Given the description of an element on the screen output the (x, y) to click on. 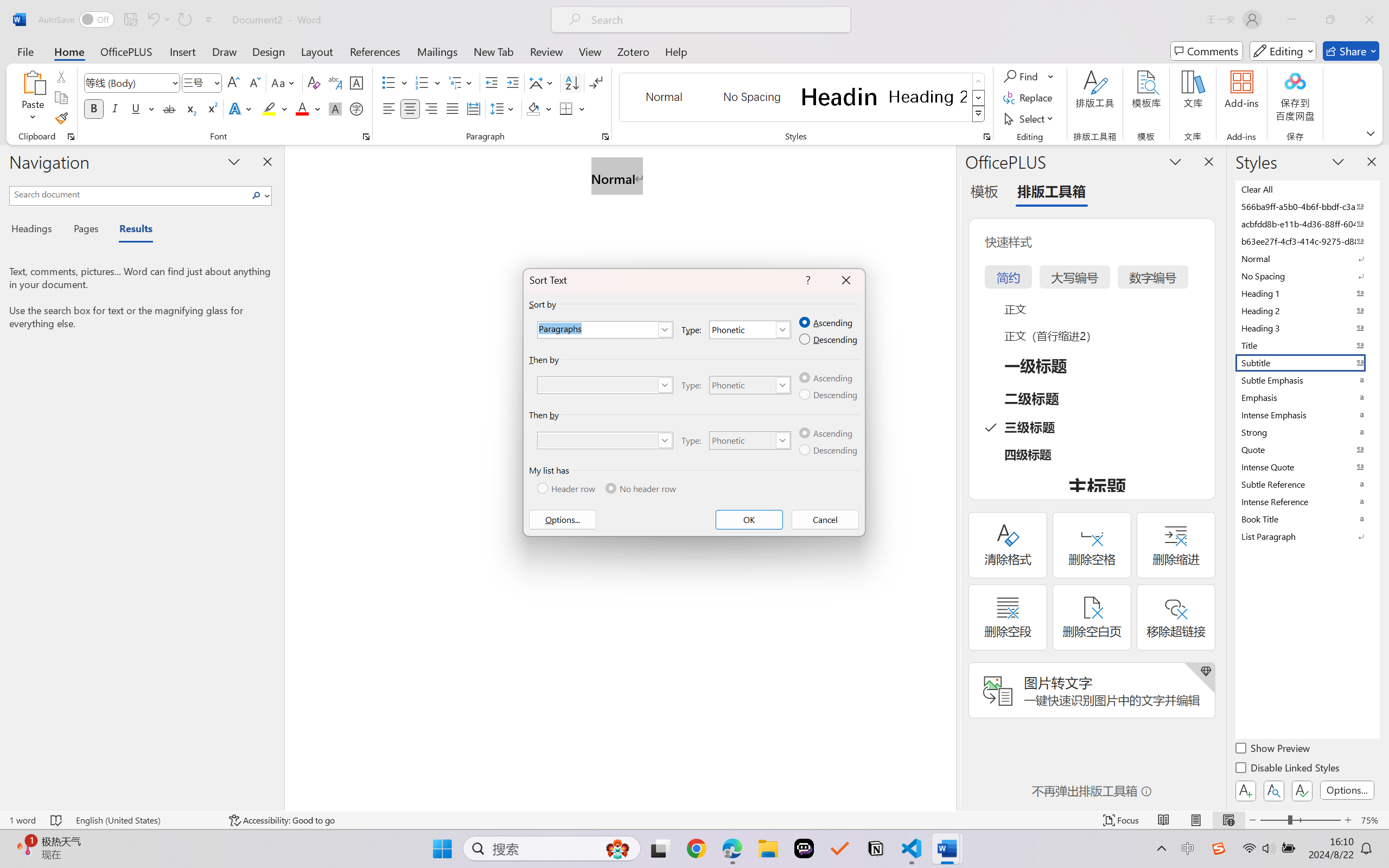
Intense Quote (1306, 466)
Task Pane Options (1175, 161)
Class: NetUIButton (1301, 790)
Line and Paragraph Spacing (503, 108)
Spelling and Grammar Check No Errors (56, 819)
Pages (85, 229)
Home (69, 51)
Font Color (308, 108)
Class: NetUIImage (978, 114)
Subtle Emphasis (1306, 379)
Styles (978, 113)
